Given the description of an element on the screen output the (x, y) to click on. 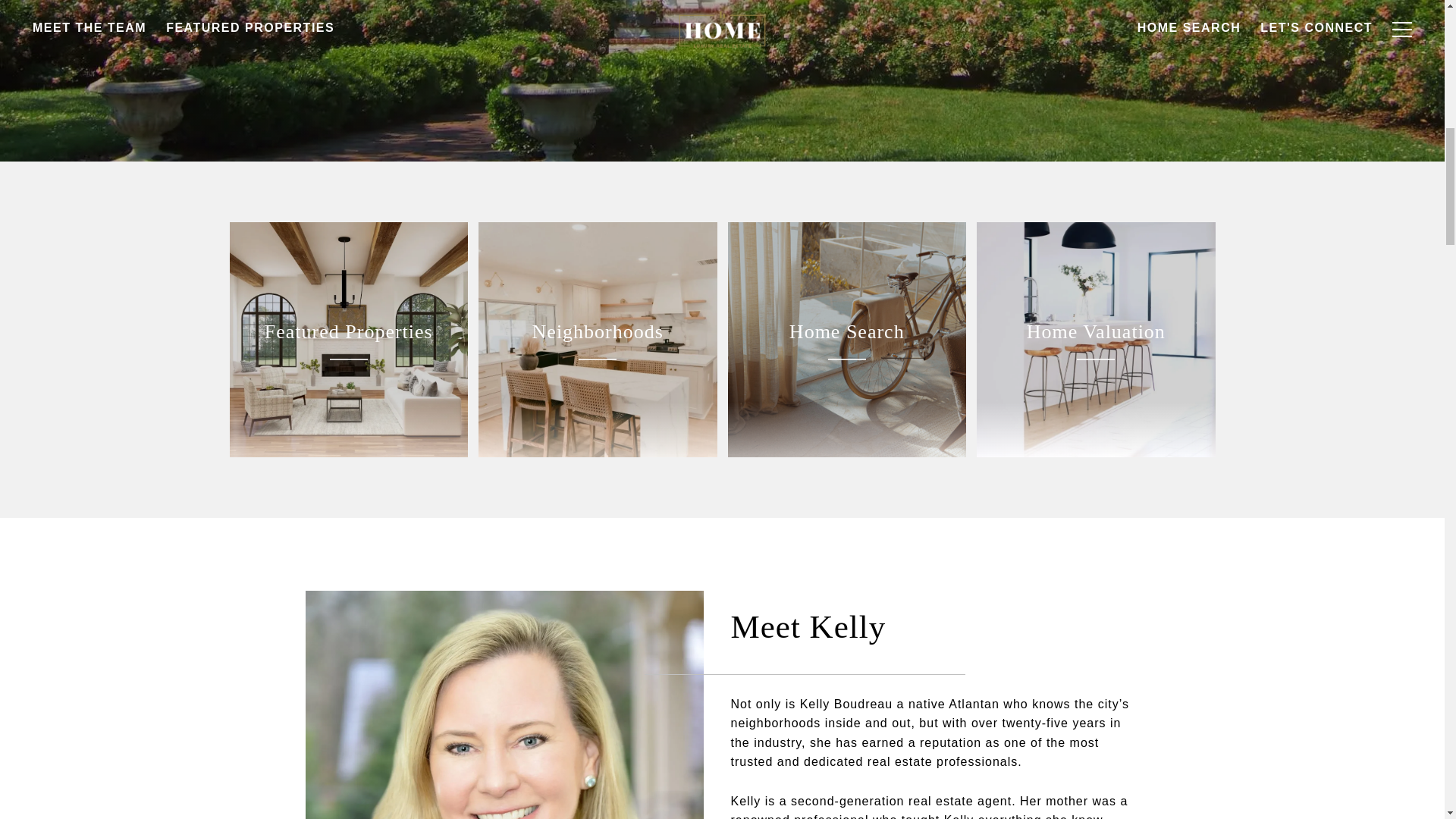
Home Valuation (1095, 339)
Featured Properties (347, 339)
Neighborhoods (598, 339)
Home Search (847, 339)
